Given the description of an element on the screen output the (x, y) to click on. 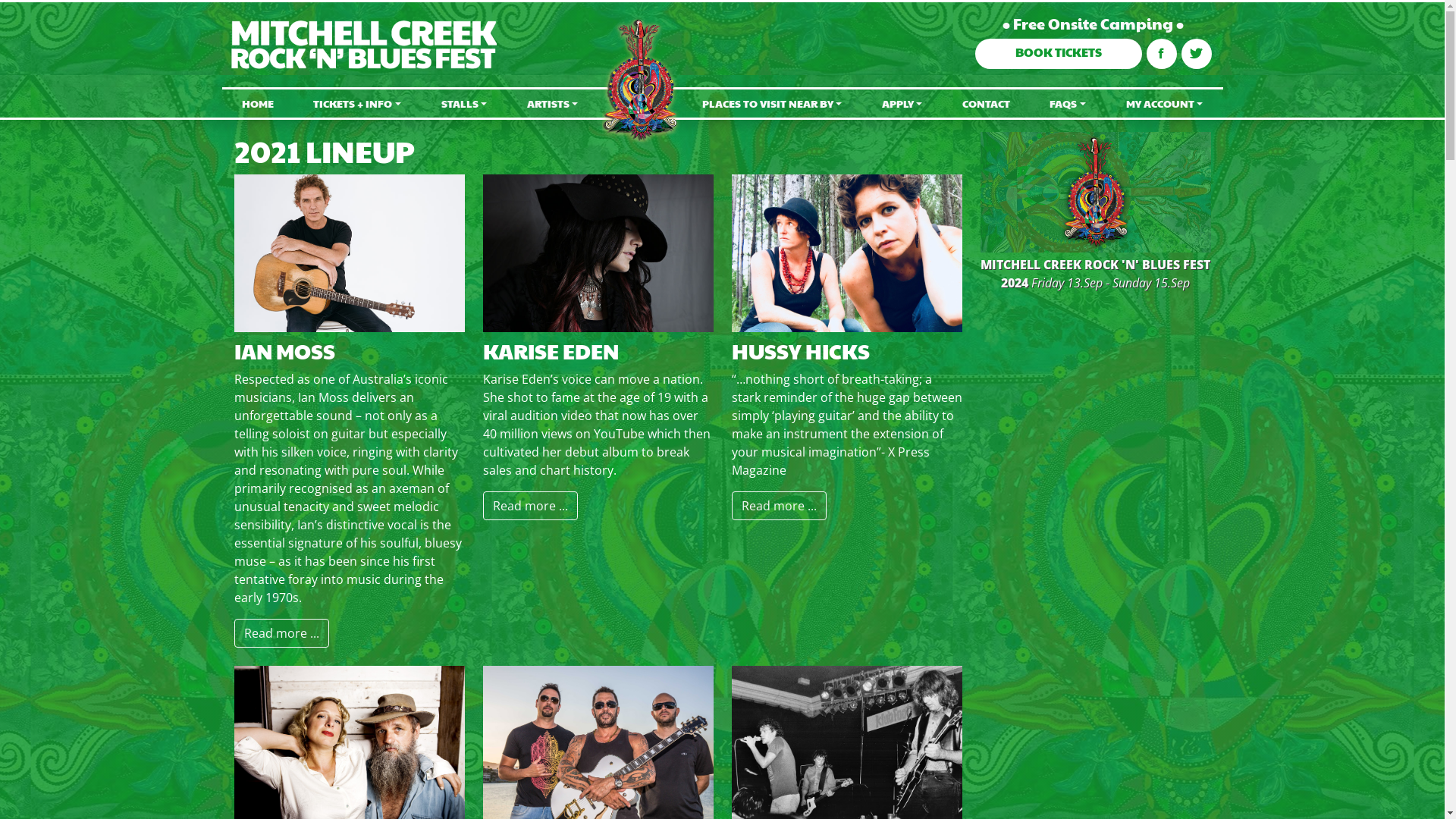
Read more ... Element type: text (778, 505)
MY ACCOUNT Element type: text (1163, 103)
STALLS Element type: text (463, 103)
CONTACT Element type: text (986, 103)
ARTISTS Element type: text (551, 103)
PLACES TO VISIT NEAR BY Element type: text (771, 103)
Read more ... Element type: text (280, 632)
APPLY Element type: text (901, 103)
Read more ... Element type: text (529, 505)
BOOK TICKETS Element type: text (1058, 53)
FAQS Element type: text (1067, 103)
TICKETS + INFO Element type: text (356, 103)
HOME Element type: text (257, 103)
